Given the description of an element on the screen output the (x, y) to click on. 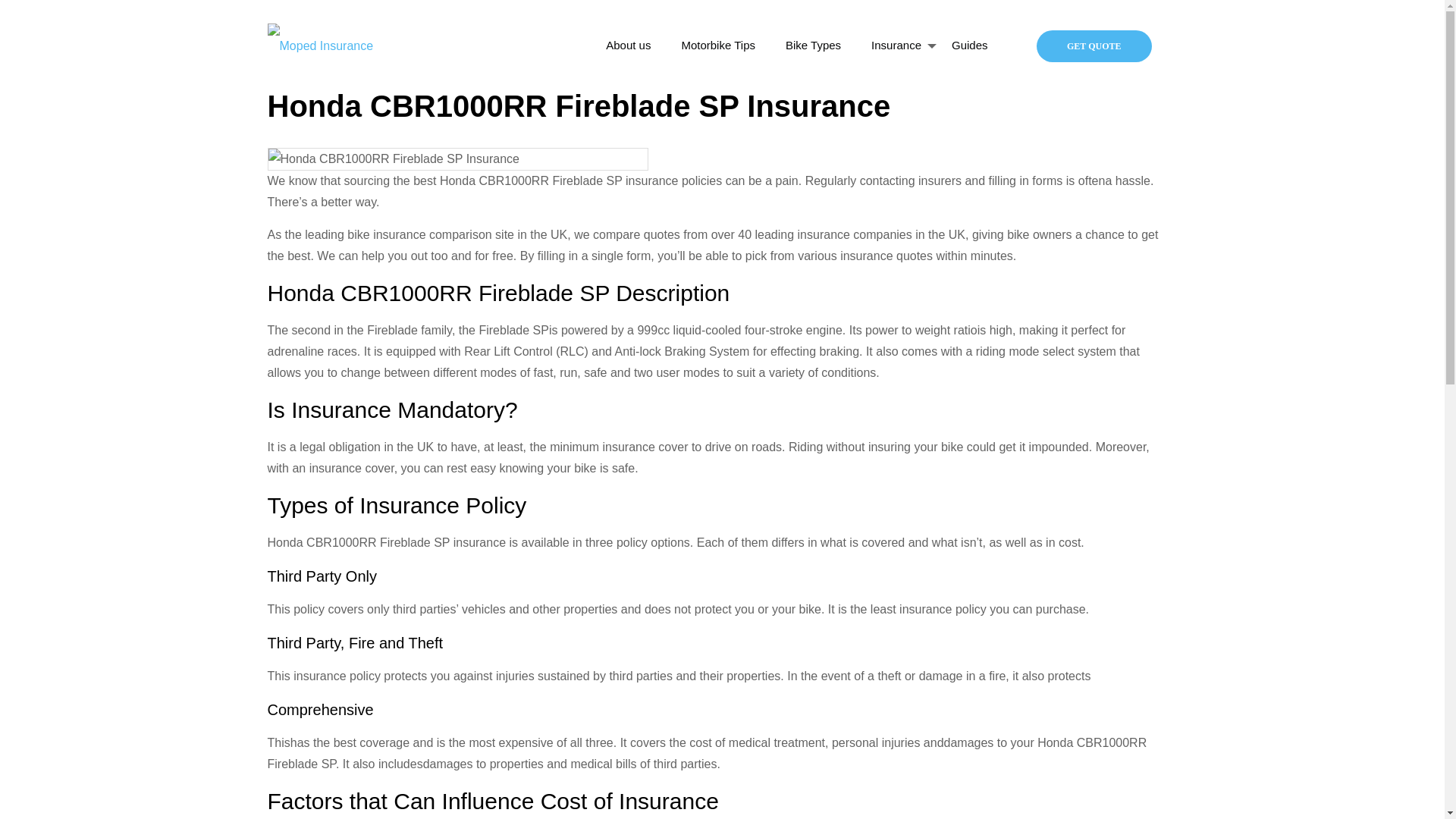
Motorbike Tips (717, 45)
Bike Types (813, 45)
